Given the description of an element on the screen output the (x, y) to click on. 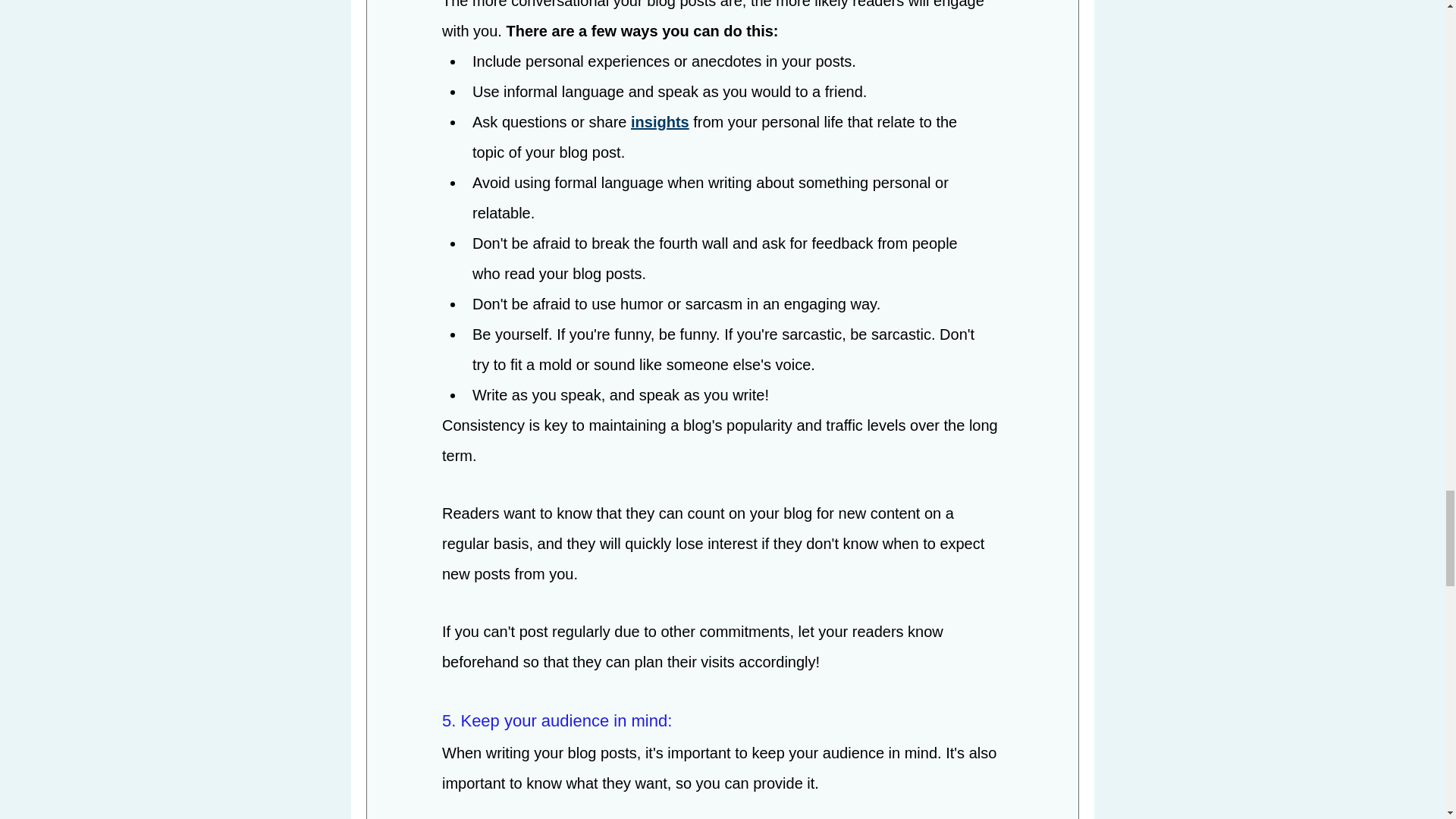
insights (659, 123)
